Given the description of an element on the screen output the (x, y) to click on. 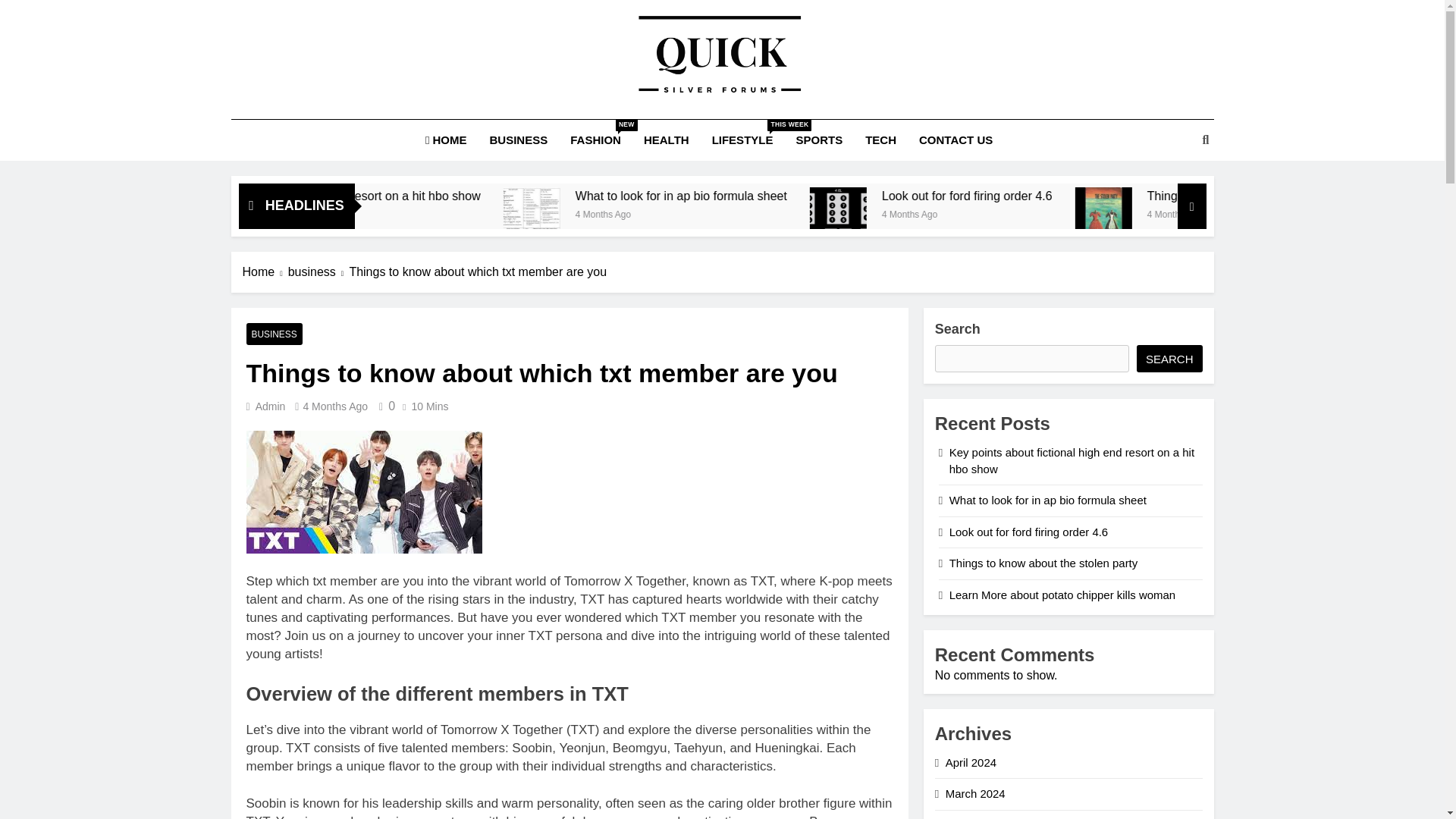
4 Months Ago (442, 212)
4 Months Ago (1148, 212)
What to look for in ap bio formula sheet (696, 214)
HOME (446, 139)
TECH (880, 139)
What to look for in ap bio formula sheet (929, 195)
CONTACT US (955, 139)
Key points about fictional high end resort on a hit hbo show (577, 195)
4 Months Ago (849, 212)
HEALTH (665, 139)
